Given the description of an element on the screen output the (x, y) to click on. 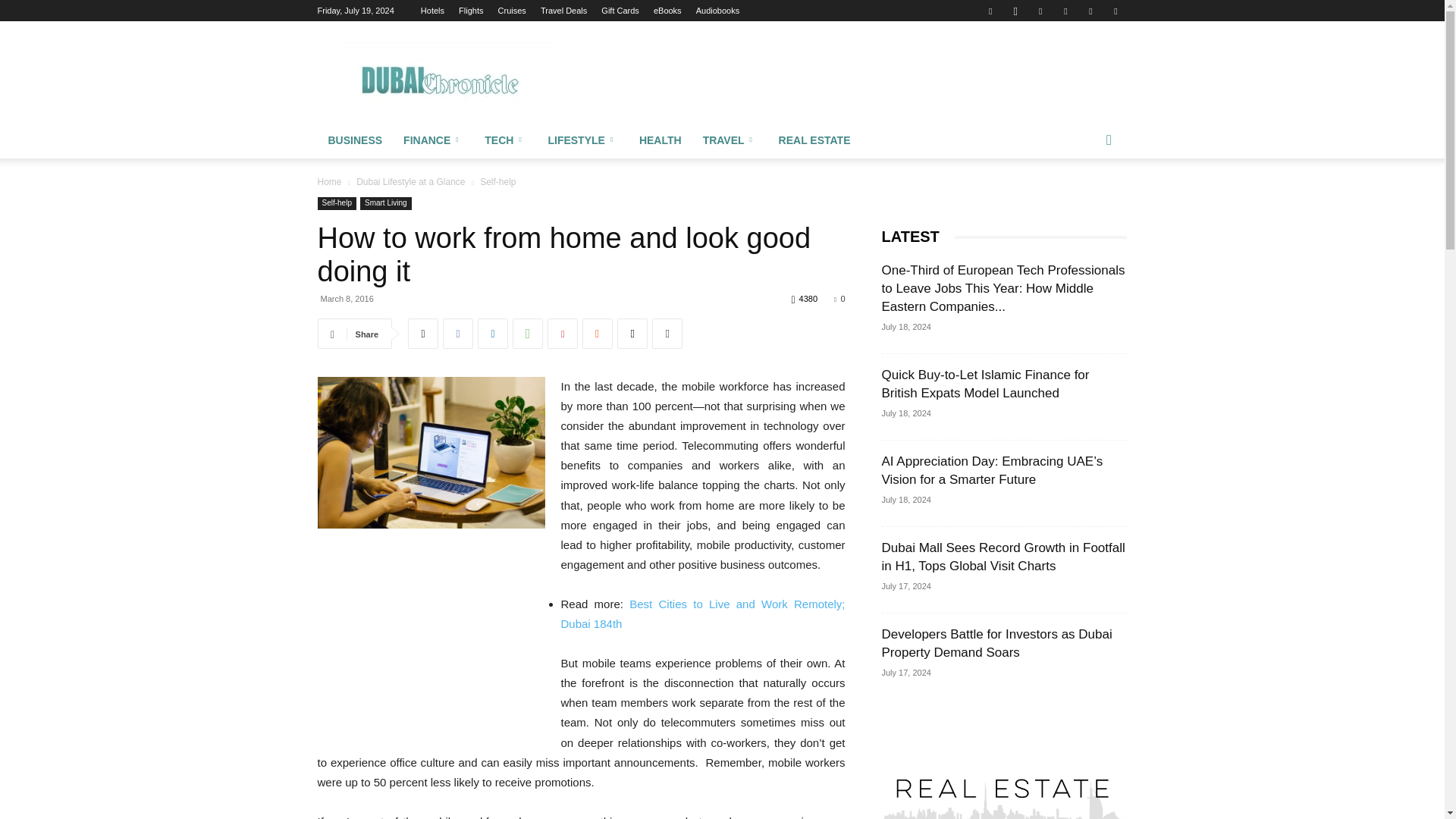
Pinterest (1040, 10)
Instagram (1015, 10)
Facebook (989, 10)
RSS (1065, 10)
Twitter (1090, 10)
Youtube (1114, 10)
